Given the description of an element on the screen output the (x, y) to click on. 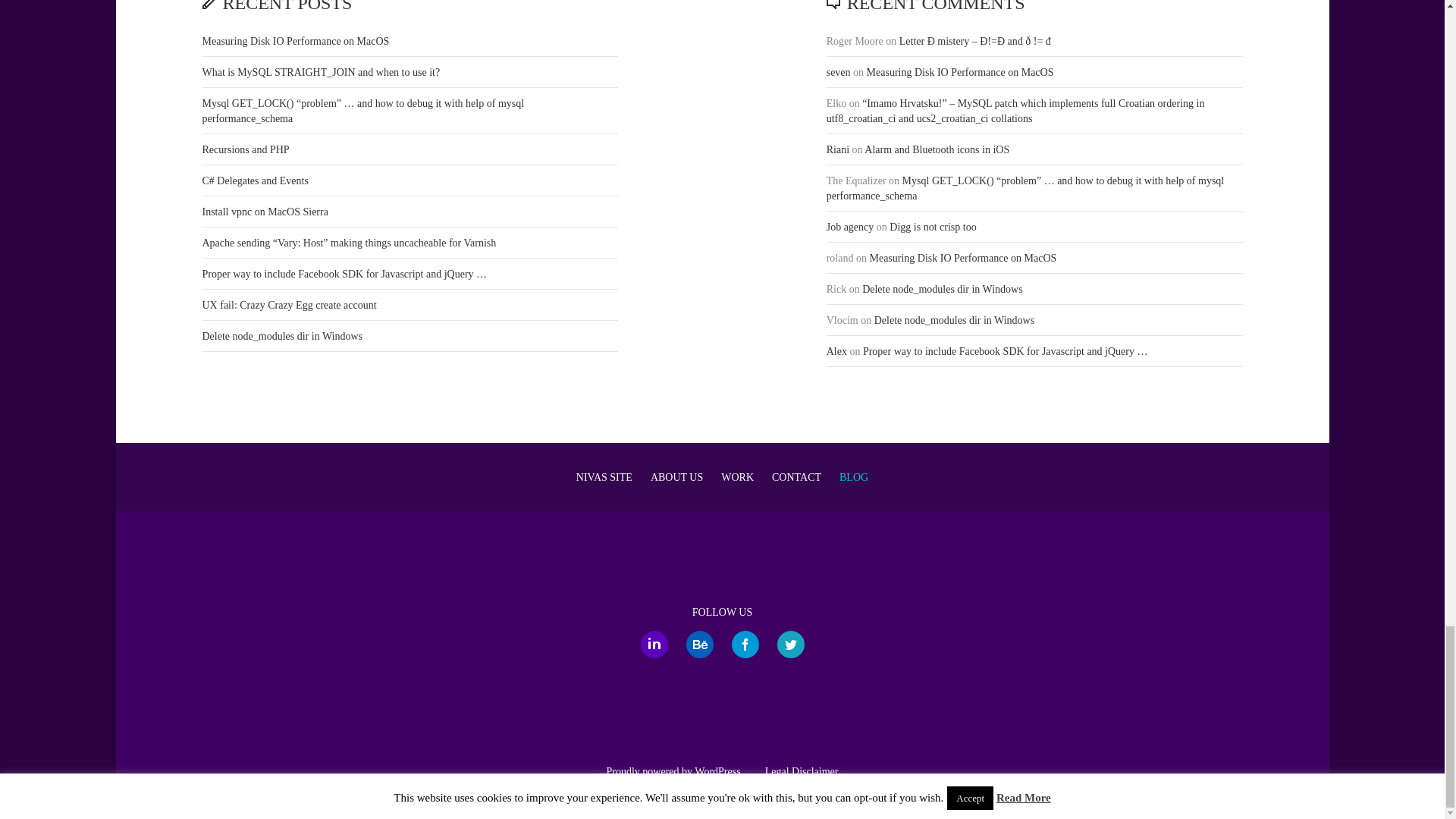
Install vpnc on MacOS Sierra (264, 211)
Measuring Disk IO Performance on MacOS (295, 41)
seven (838, 71)
Recursions and PHP (245, 149)
UX fail: Crazy Crazy Egg create account (288, 305)
Measuring Disk IO Performance on MacOS (960, 71)
